Given the description of an element on the screen output the (x, y) to click on. 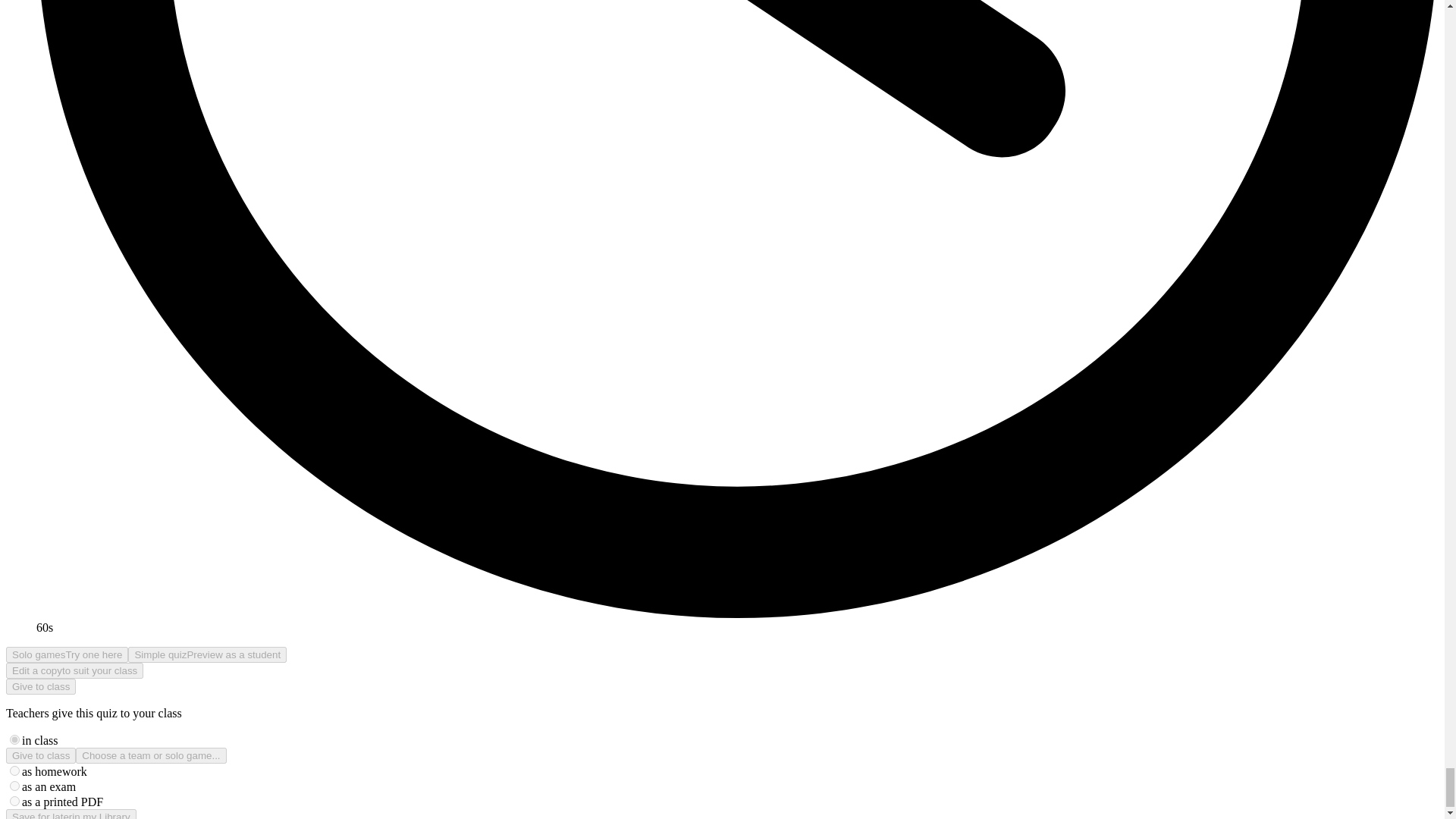
Edit a copyto suit your class (73, 670)
Choose a team or solo game... (150, 755)
quiz (15, 739)
print (15, 800)
Give to class (40, 686)
exam (15, 786)
Solo gamesTry one here (66, 654)
Give to class (40, 755)
homework (15, 770)
Simple quizPreview as a student (207, 654)
